Given the description of an element on the screen output the (x, y) to click on. 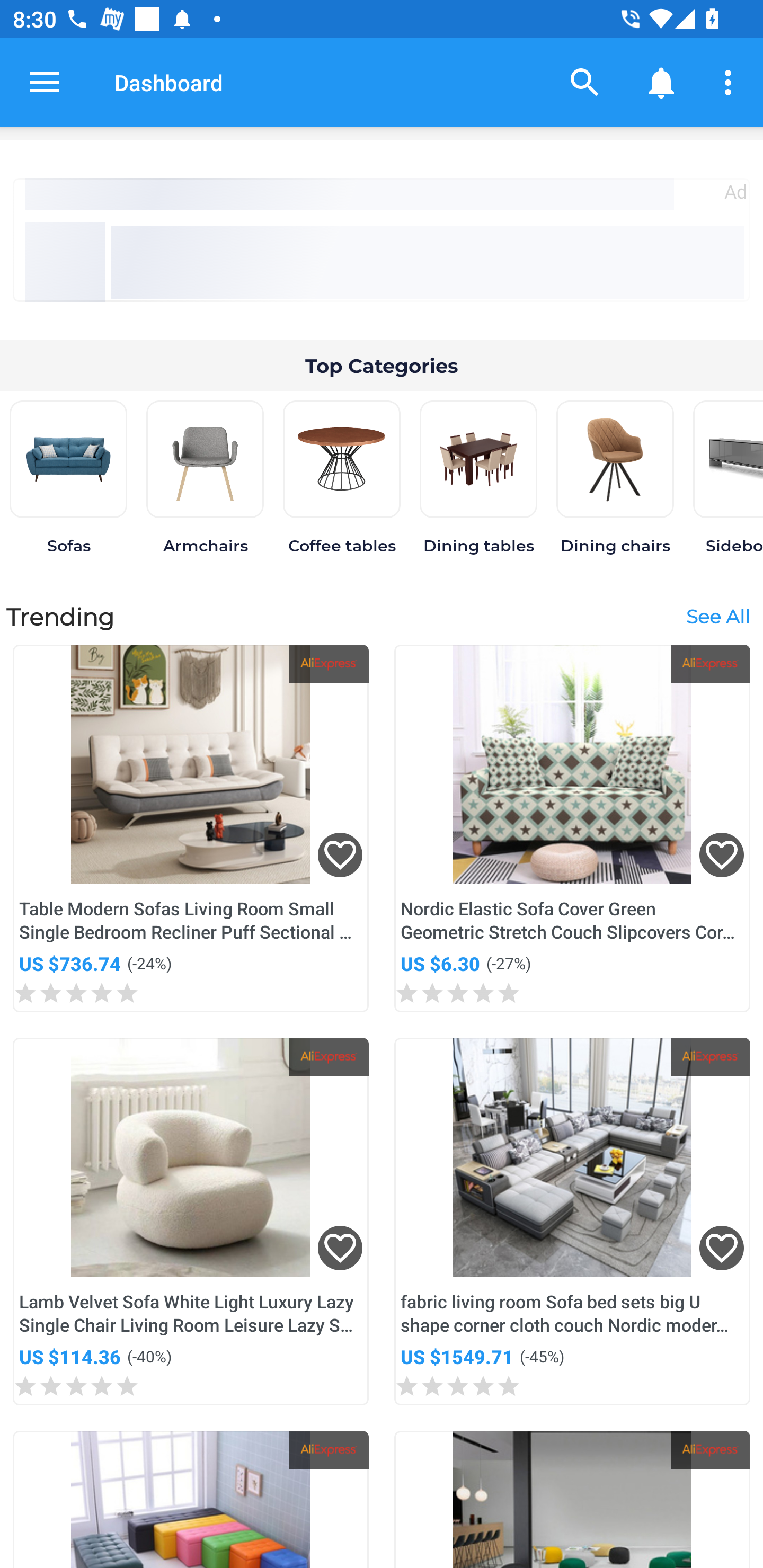
Open navigation drawer (44, 82)
Search (585, 81)
More options (731, 81)
See All (717, 615)
